Given the description of an element on the screen output the (x, y) to click on. 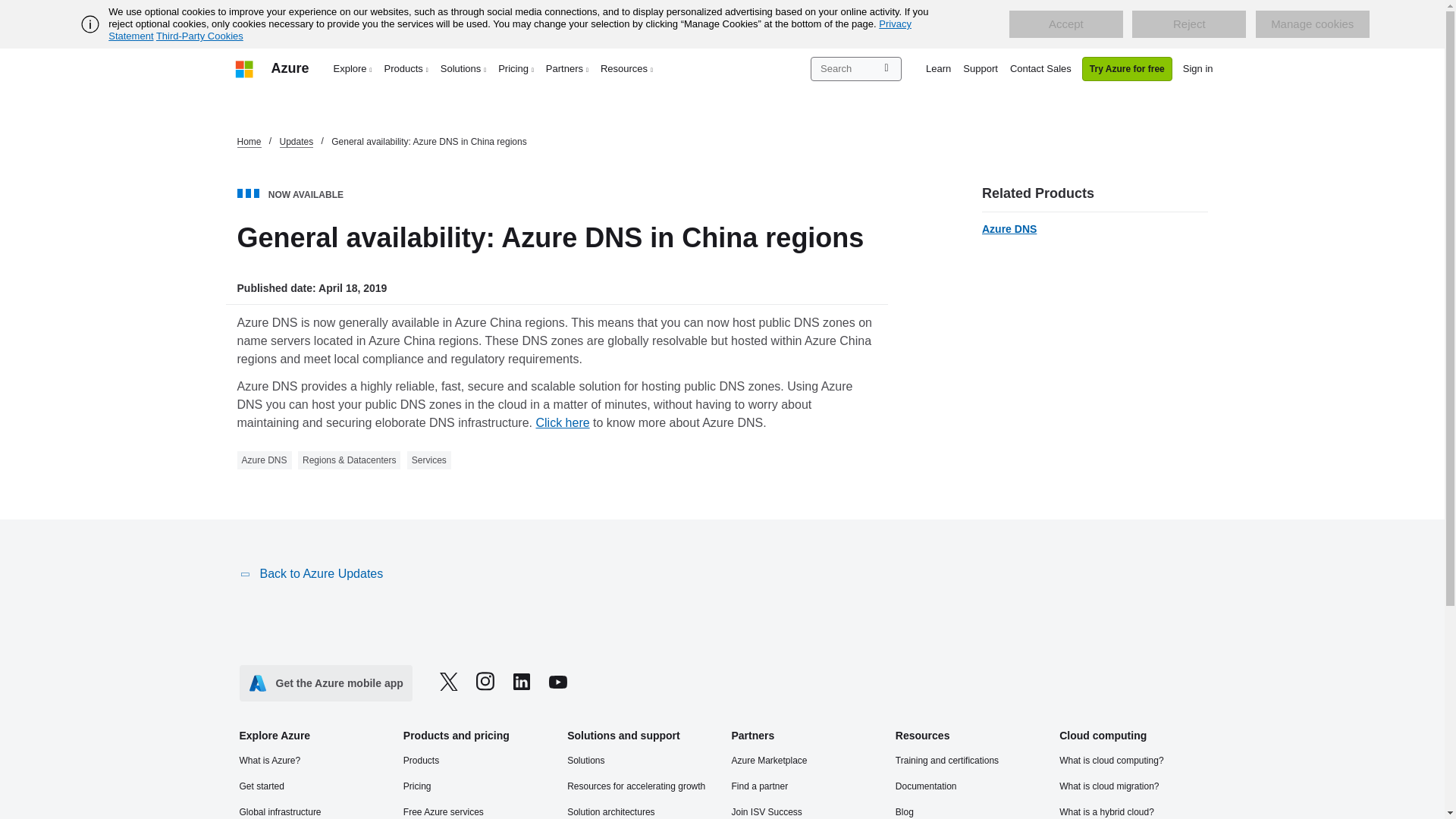
Skip to main content (7, 7)
Azure (289, 68)
Explore (352, 68)
Manage cookies (1312, 23)
Products (405, 68)
Privacy Statement (509, 29)
Reject (1189, 23)
Accept (1065, 23)
Third-Party Cookies (199, 35)
